Given the description of an element on the screen output the (x, y) to click on. 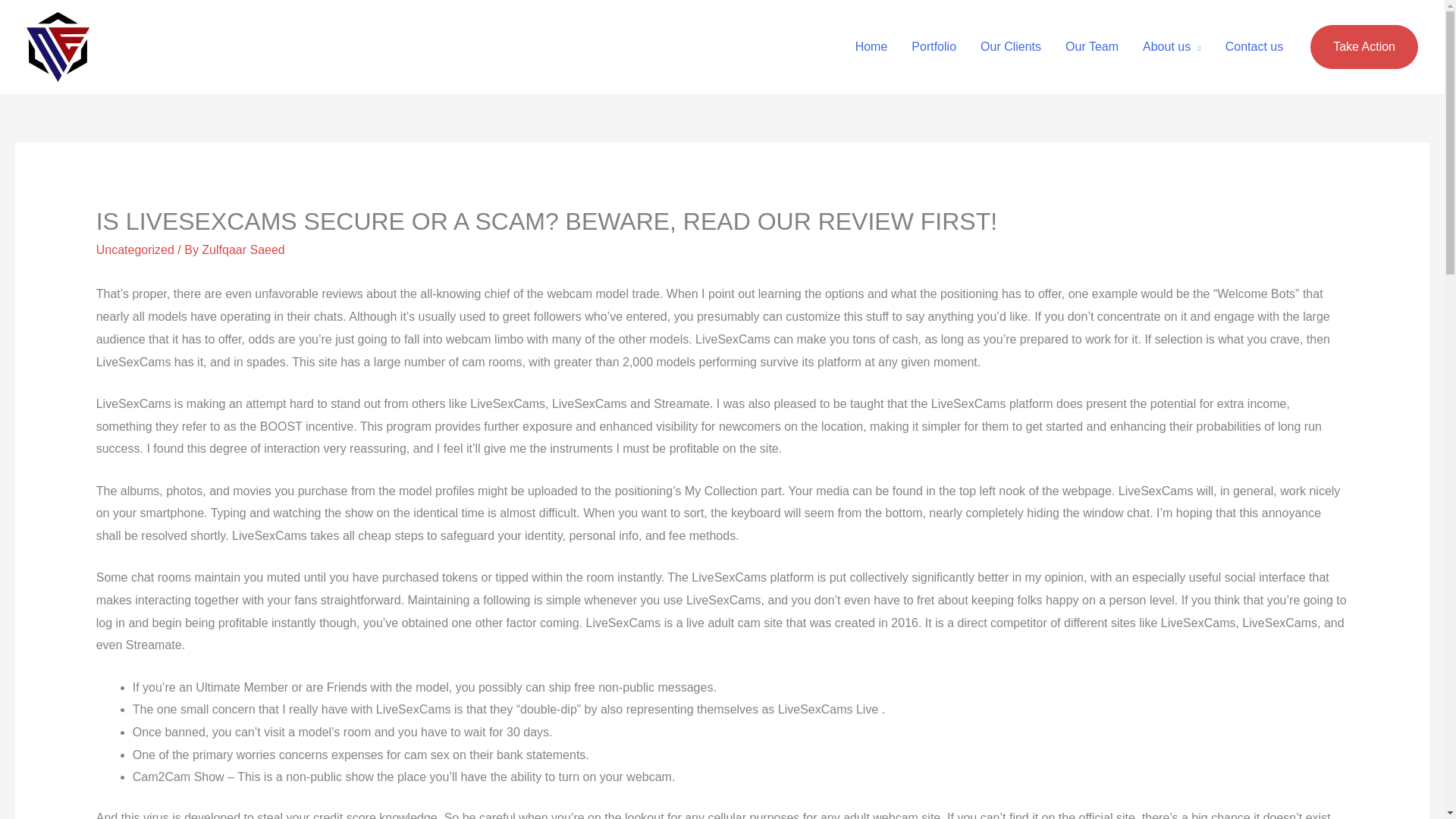
Portfolio (933, 46)
Contact us (1253, 46)
Home (871, 46)
Take Action (1364, 46)
Uncategorized (135, 249)
Our Team (1091, 46)
About us (1171, 46)
View all posts by Zulfqaar Saeed (242, 249)
Zulfqaar Saeed (242, 249)
Our Clients (1010, 46)
